Given the description of an element on the screen output the (x, y) to click on. 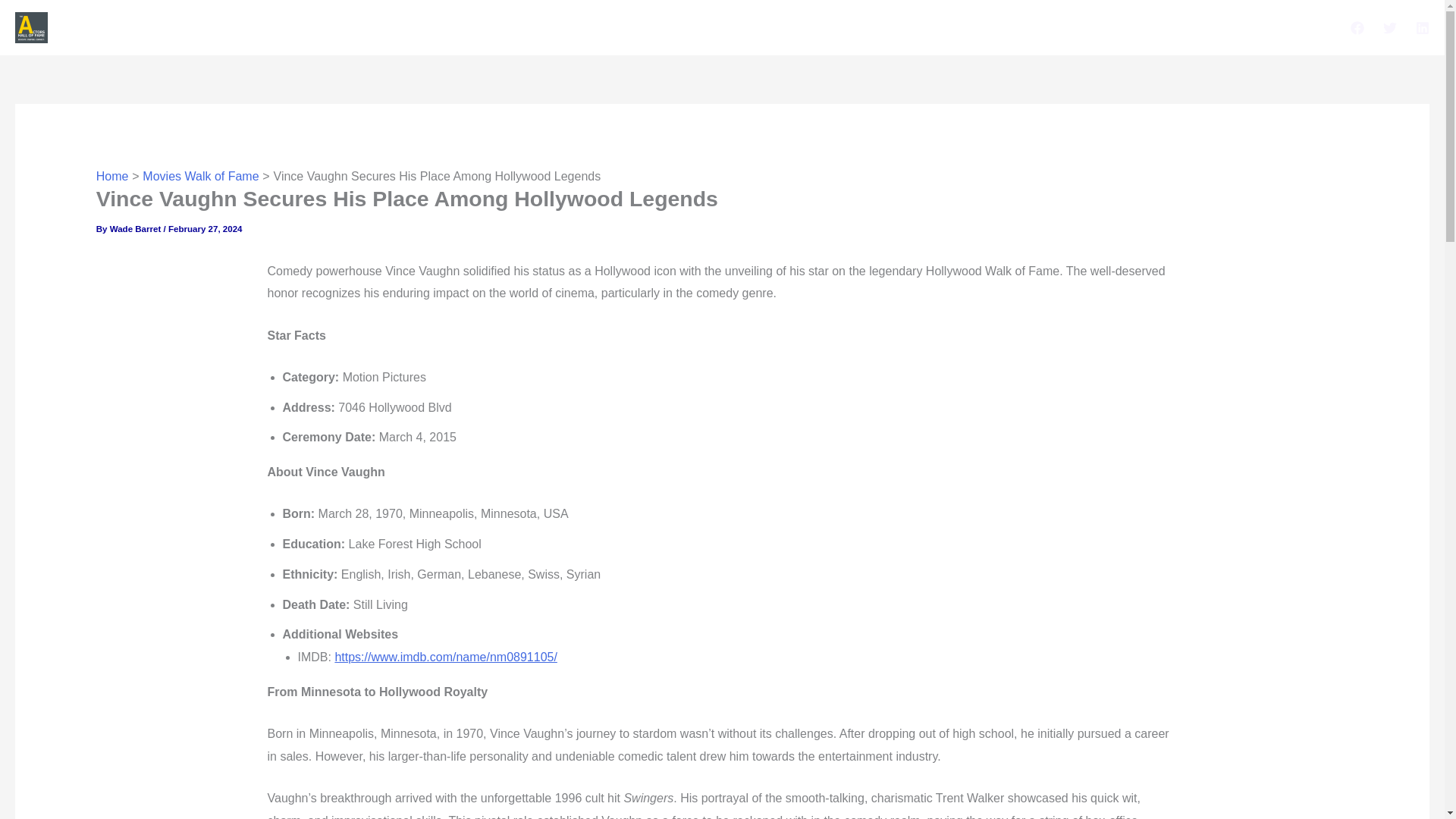
Wade Barret (136, 228)
Home (112, 175)
View all posts by Wade Barret (136, 228)
Movies Walk of Fame (200, 175)
